Given the description of an element on the screen output the (x, y) to click on. 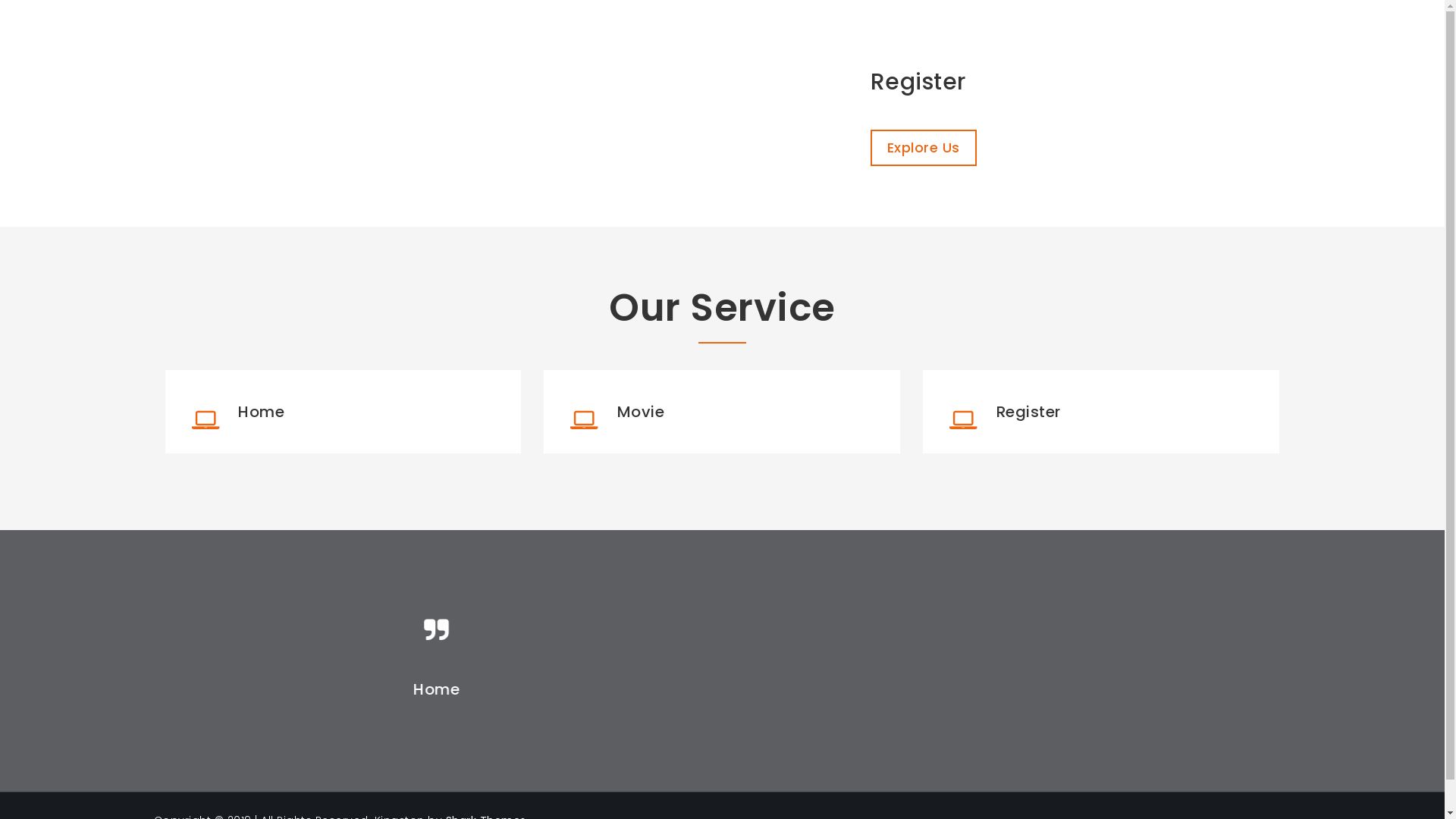
Explore Us Element type: text (923, 147)
Movie Element type: text (641, 411)
Register Element type: text (1028, 411)
Register Element type: text (1080, 81)
Home Element type: text (722, 689)
Home Element type: text (261, 411)
The Kingston Element type: text (239, 37)
